Given the description of an element on the screen output the (x, y) to click on. 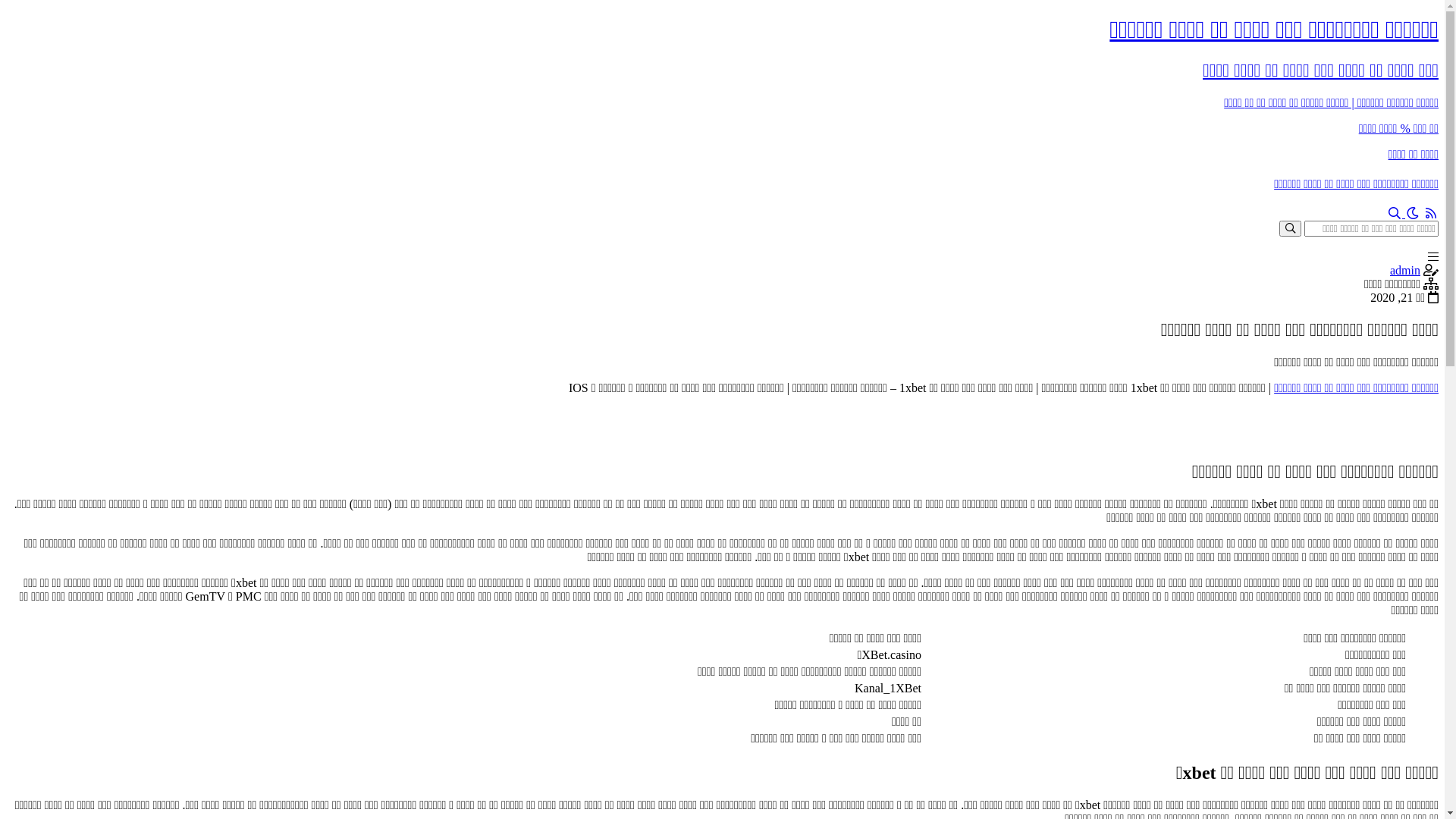
admin Element type: text (1405, 269)
